Given the description of an element on the screen output the (x, y) to click on. 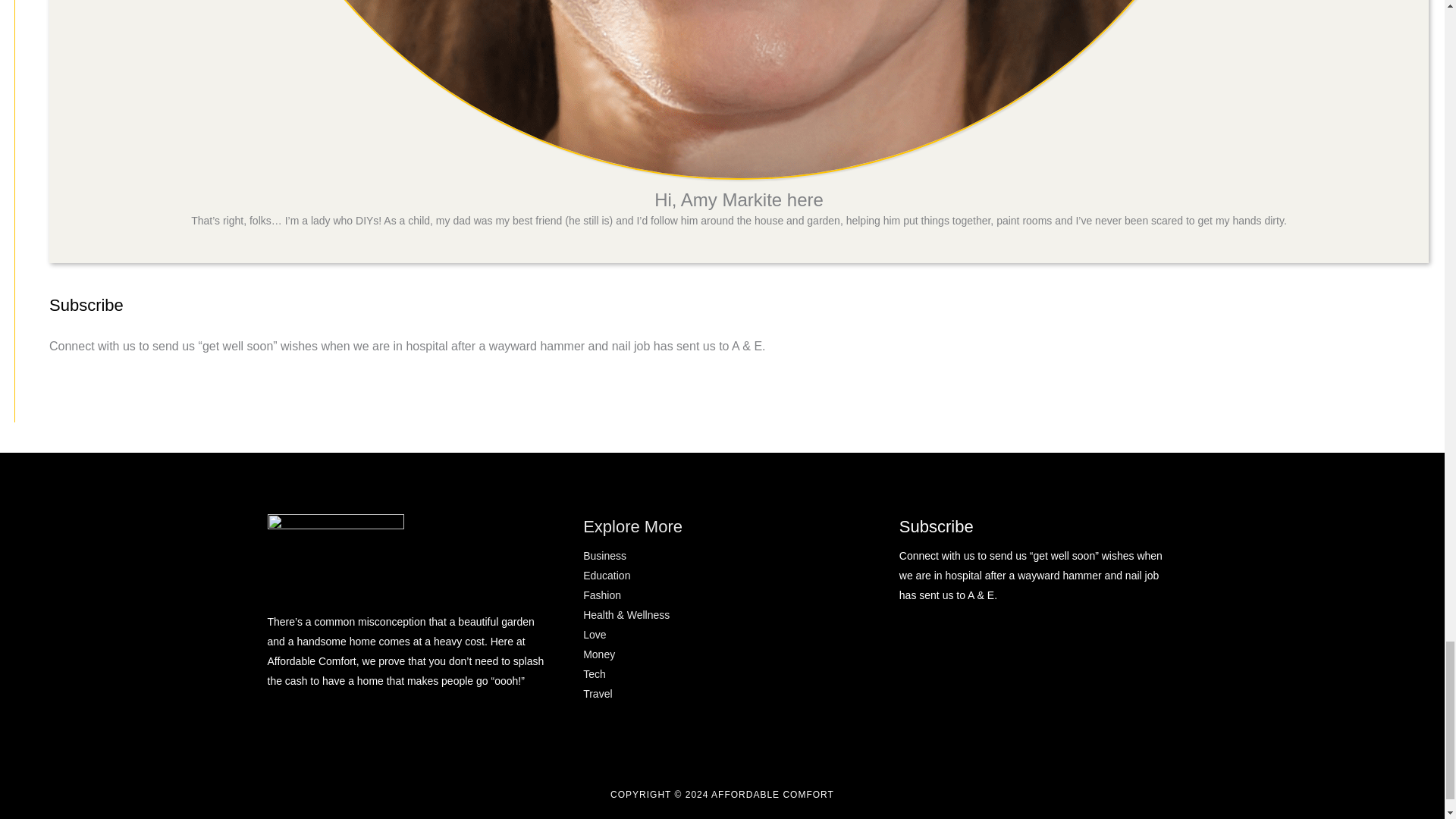
Fashion (602, 594)
Education (606, 575)
Business (604, 555)
